Given the description of an element on the screen output the (x, y) to click on. 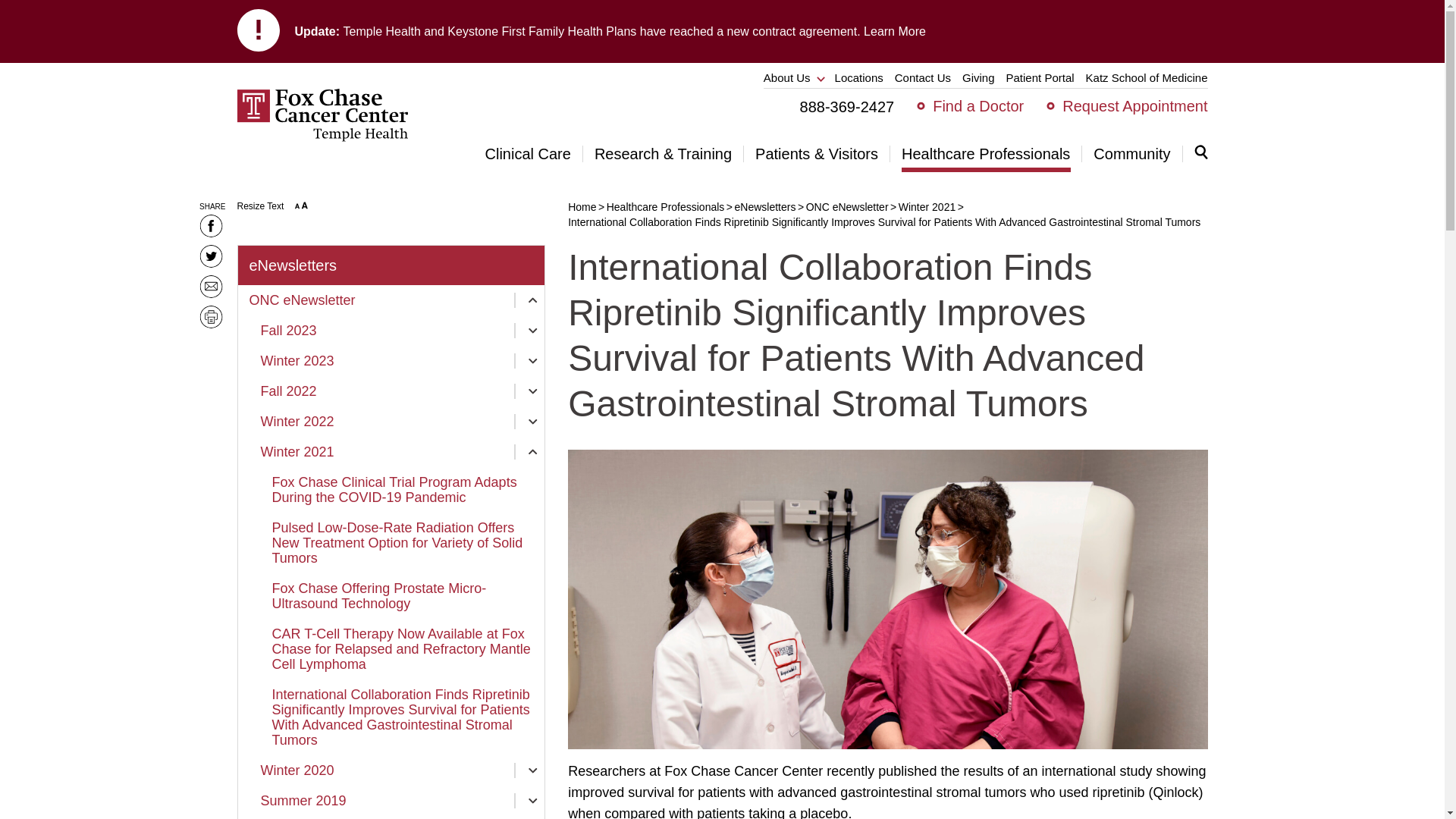
Find a Doctor (978, 105)
About Us (793, 77)
Giving (978, 77)
888-369-2427 (847, 107)
Clinical Care (533, 153)
Patient Portal (1040, 77)
Locations (858, 77)
Contact Us (922, 77)
Learn More (894, 30)
Katz School of Medicine (1147, 77)
